Given the description of an element on the screen output the (x, y) to click on. 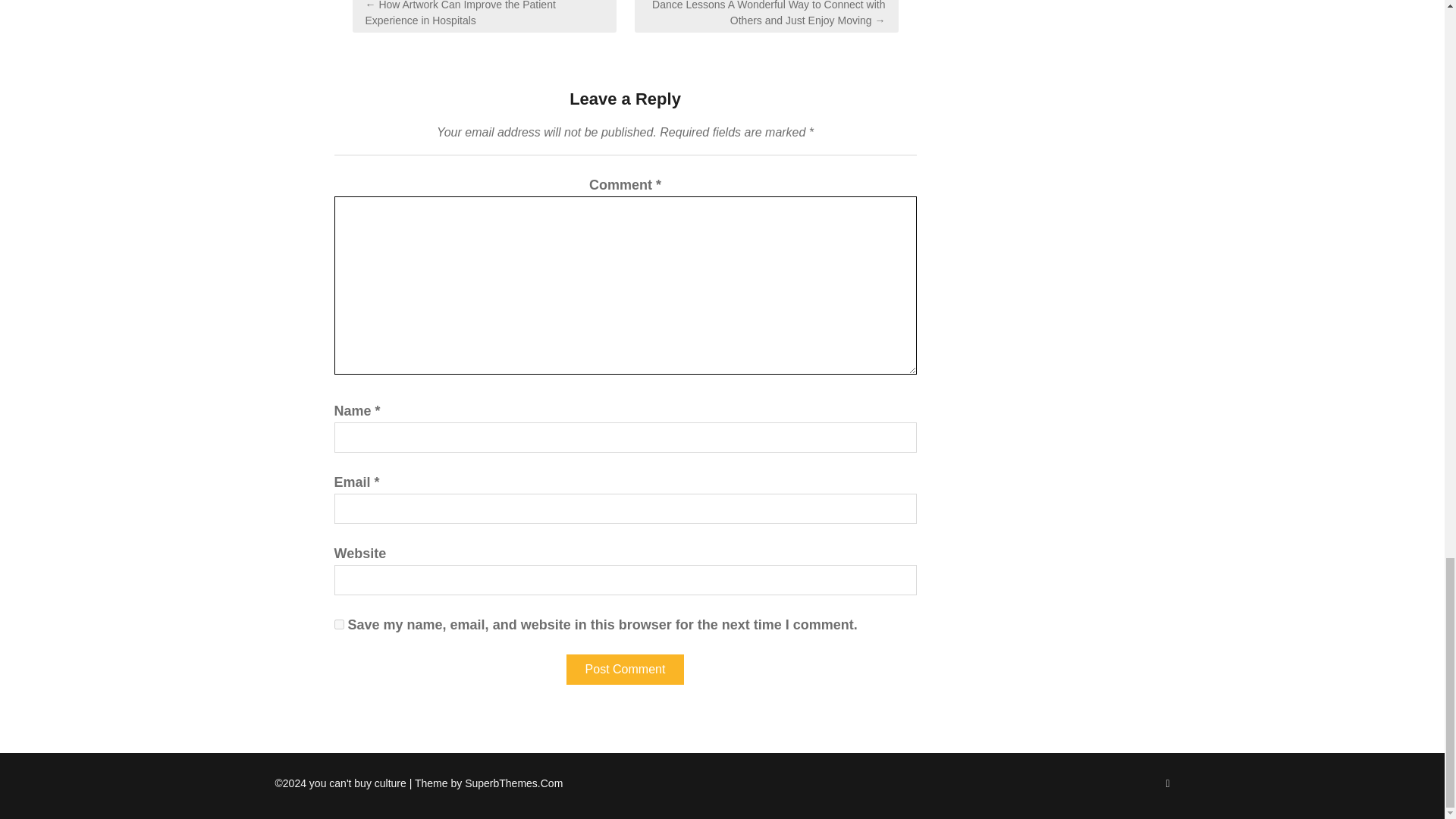
yes (338, 624)
SuperbThemes.Com (513, 783)
Post Comment (625, 669)
Post Comment (625, 669)
